Given the description of an element on the screen output the (x, y) to click on. 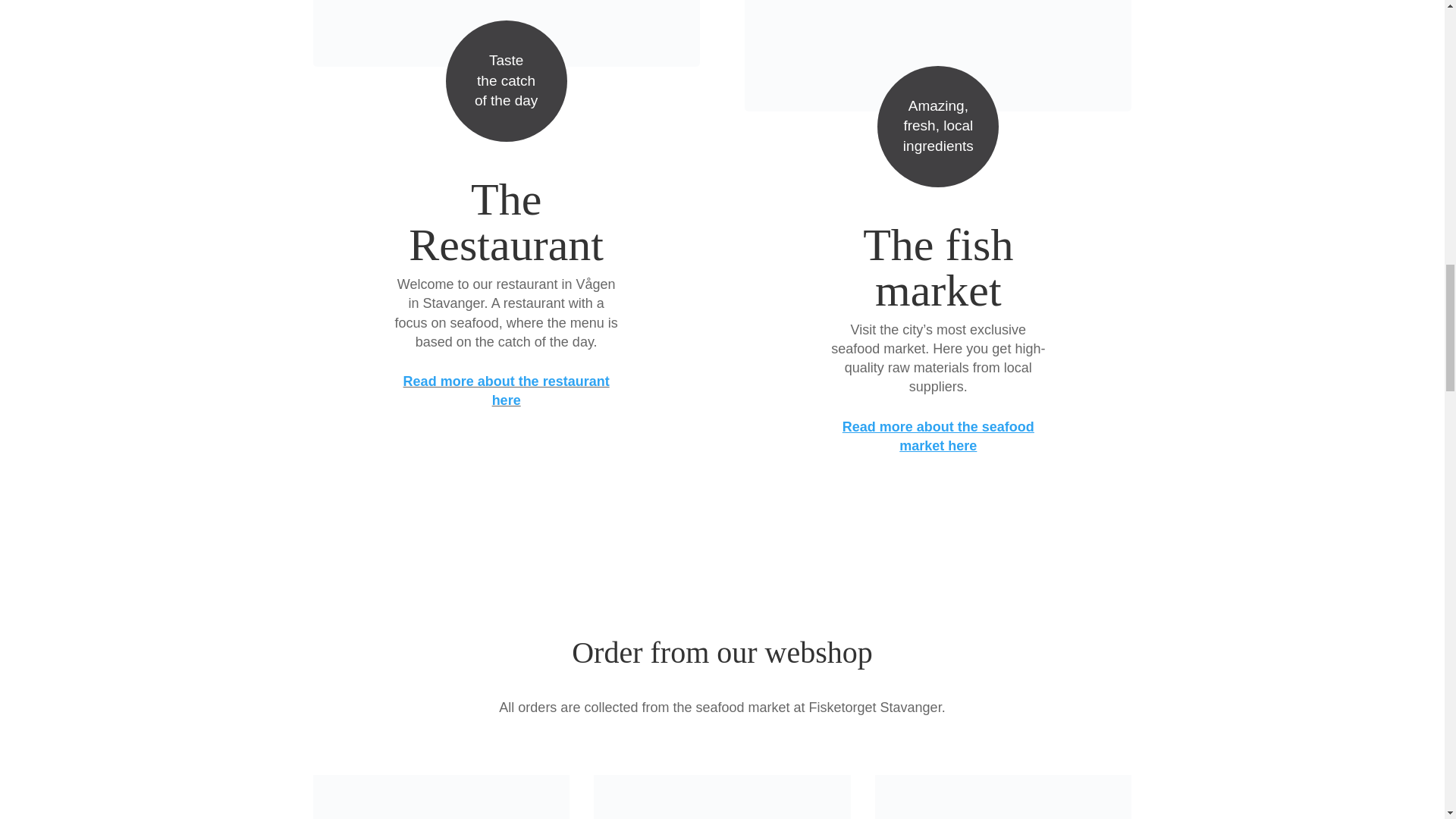
Klikk og hent - Spiseklare retter (441, 796)
Read more about the seafood market here (938, 436)
Restaurant fokus akevitt Lars-Erik Kristiansen-2 (505, 33)
Read more about the restaurant here (506, 390)
